Given the description of an element on the screen output the (x, y) to click on. 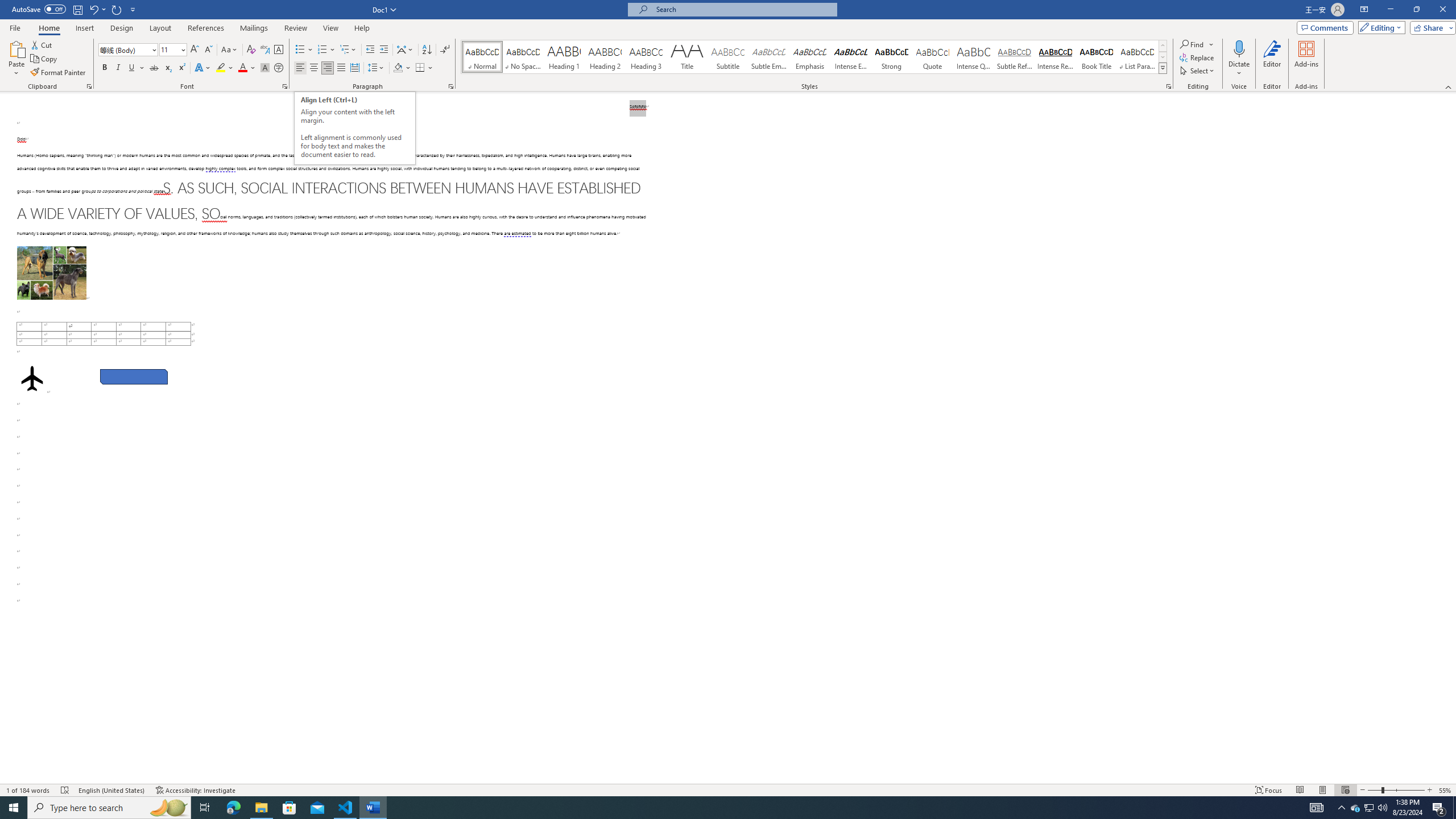
Intense Quote (973, 56)
Airplane with solid fill (31, 378)
Intense Reference (1055, 56)
